Given the description of an element on the screen output the (x, y) to click on. 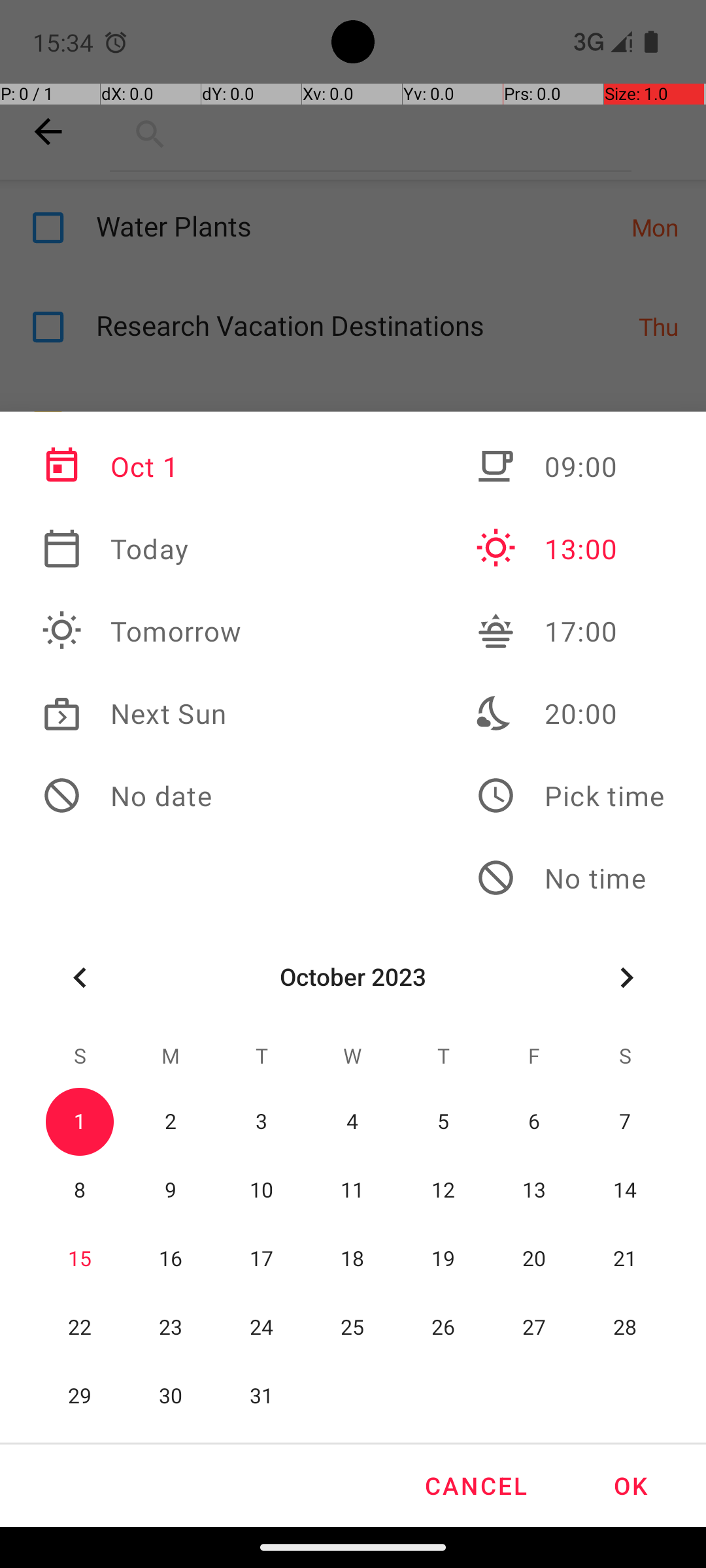
Oct 1 Element type: android.widget.CompoundButton (141, 466)
